Given the description of an element on the screen output the (x, y) to click on. 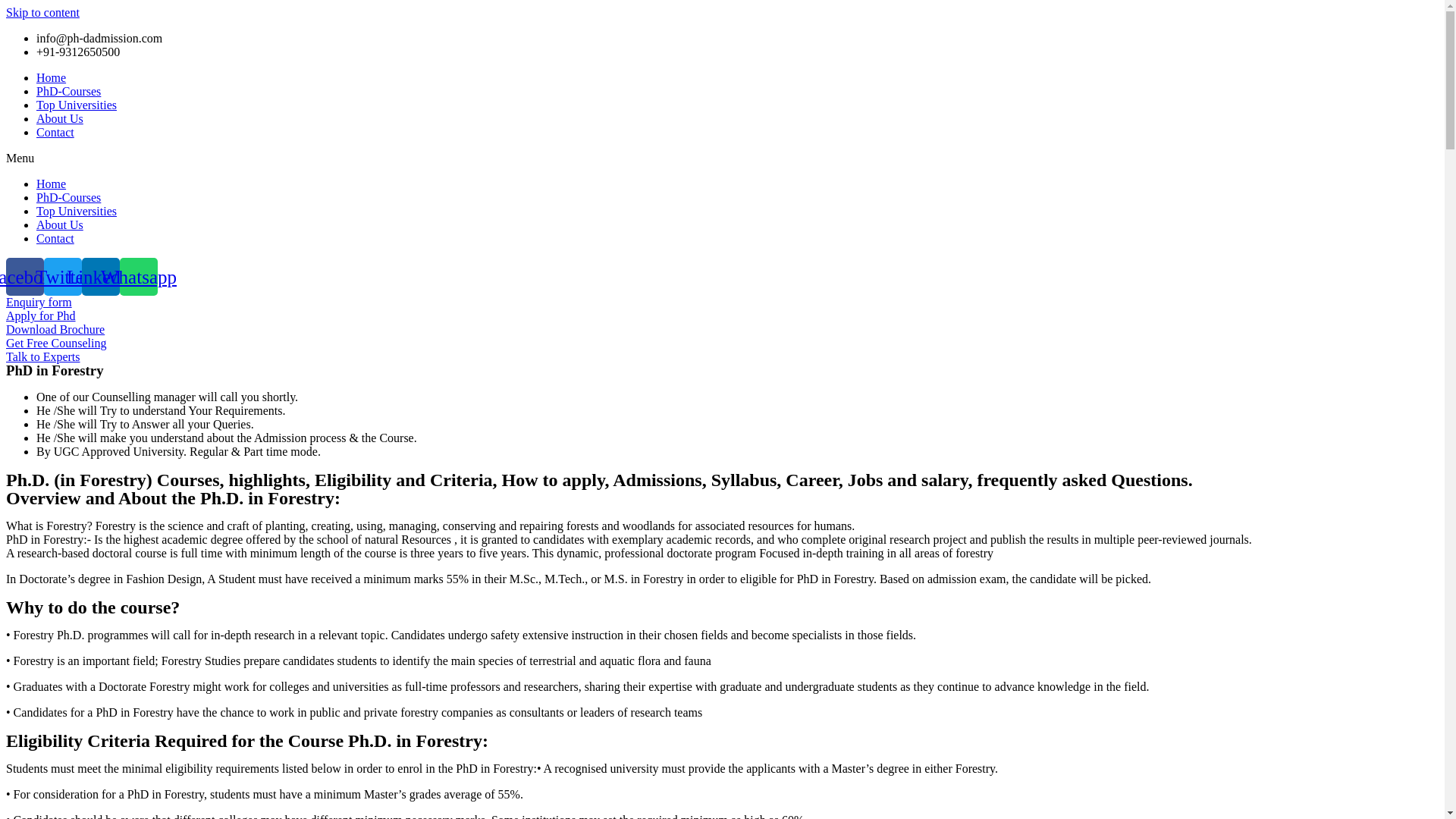
Apply for Phd (40, 315)
About Us (59, 118)
Twitter (62, 276)
Home (50, 77)
Top Universities (76, 210)
Skip to content (42, 11)
Whatsapp (138, 276)
Linkedin (100, 276)
Facebook (24, 276)
Contact (55, 237)
